Given the description of an element on the screen output the (x, y) to click on. 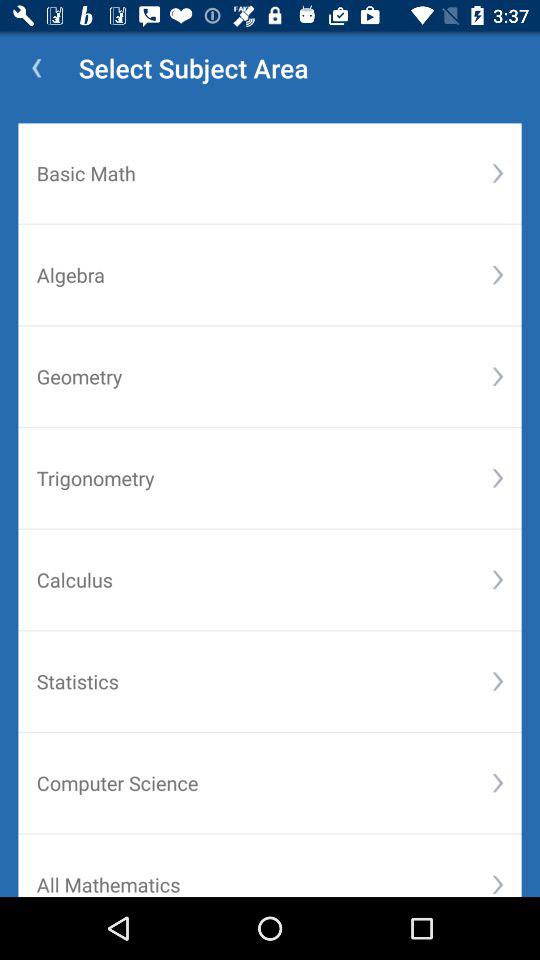
flip until the basic math (264, 173)
